Given the description of an element on the screen output the (x, y) to click on. 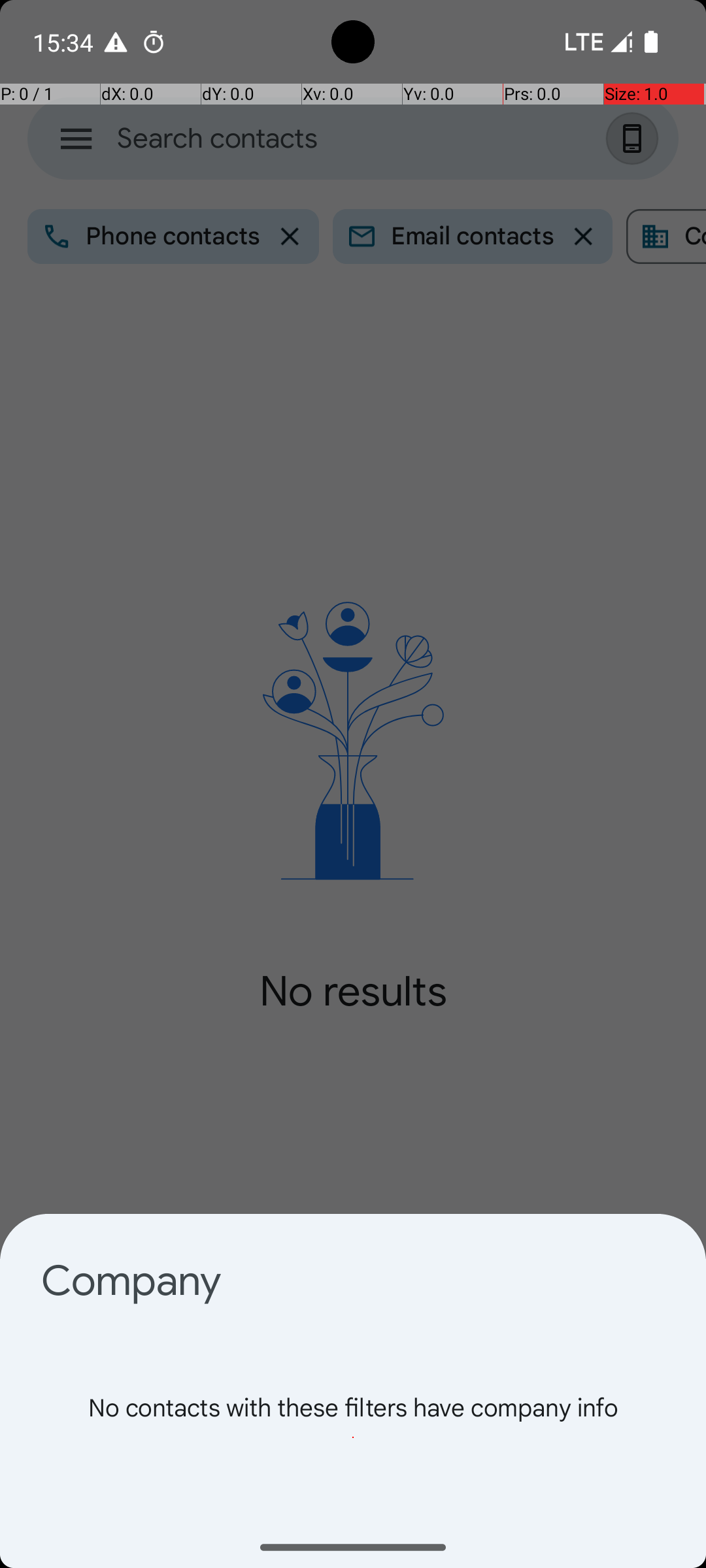
No contacts with these filters have company info Element type: android.widget.TextView (352, 1437)
